Given the description of an element on the screen output the (x, y) to click on. 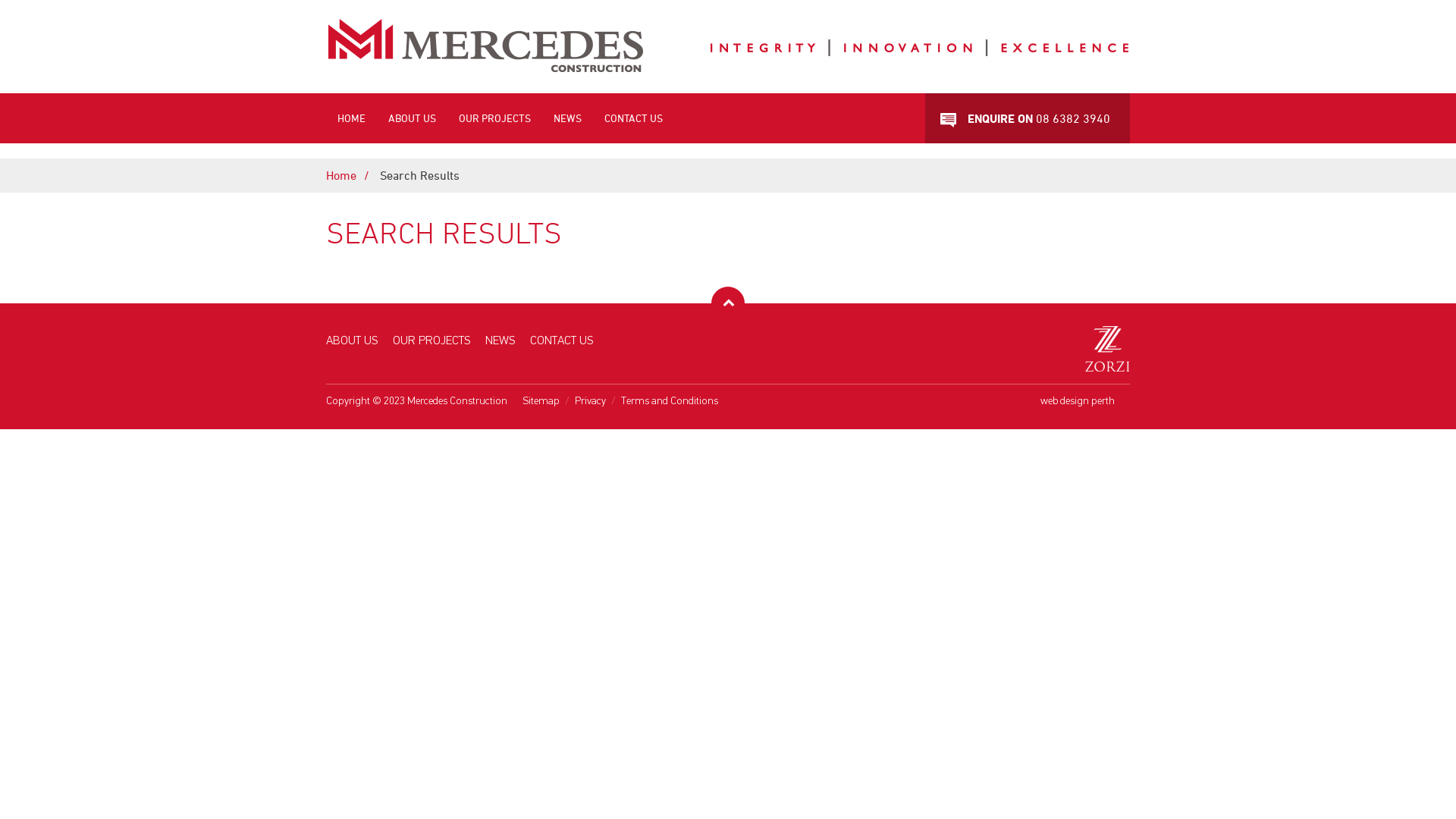
CONTACT US Element type: text (561, 339)
OUR PROJECTS Element type: text (431, 339)
Back to top Element type: hover (727, 303)
Mercedes Construction - Integrity , Innovation, Excellence Element type: hover (727, 86)
OUR PROJECTS Element type: text (494, 118)
Zorzi Element type: hover (1107, 366)
ENQUIRE ON 08 6382 3940 Element type: text (1027, 118)
ABOUT US Element type: text (351, 339)
Mercedes Construction - Integrity , Innovation, Excellence Element type: hover (727, 45)
NEWS Element type: text (499, 339)
Privacy Element type: text (589, 400)
NEWS Element type: text (567, 118)
Home Element type: text (351, 175)
Sitemap Element type: text (540, 400)
null Element type: hover (953, 119)
Zorzi Element type: hover (1107, 348)
web design perth Element type: text (1077, 400)
Search Results Element type: text (426, 175)
ABOUT US Element type: text (411, 118)
Terms and Conditions Element type: text (669, 400)
CONTACT US Element type: text (633, 118)
HOME Element type: text (351, 118)
